Given the description of an element on the screen output the (x, y) to click on. 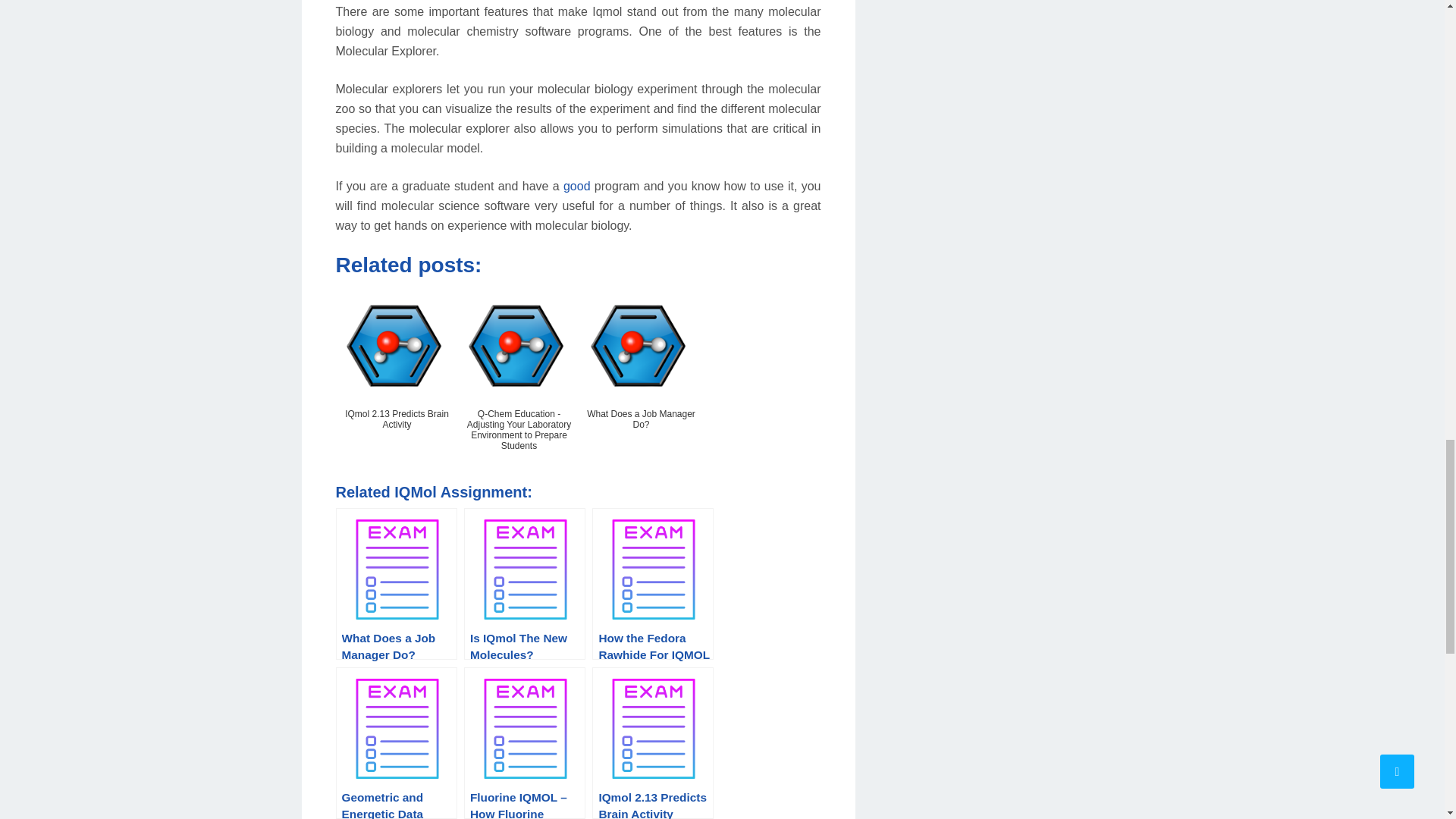
good (577, 185)
